Given the description of an element on the screen output the (x, y) to click on. 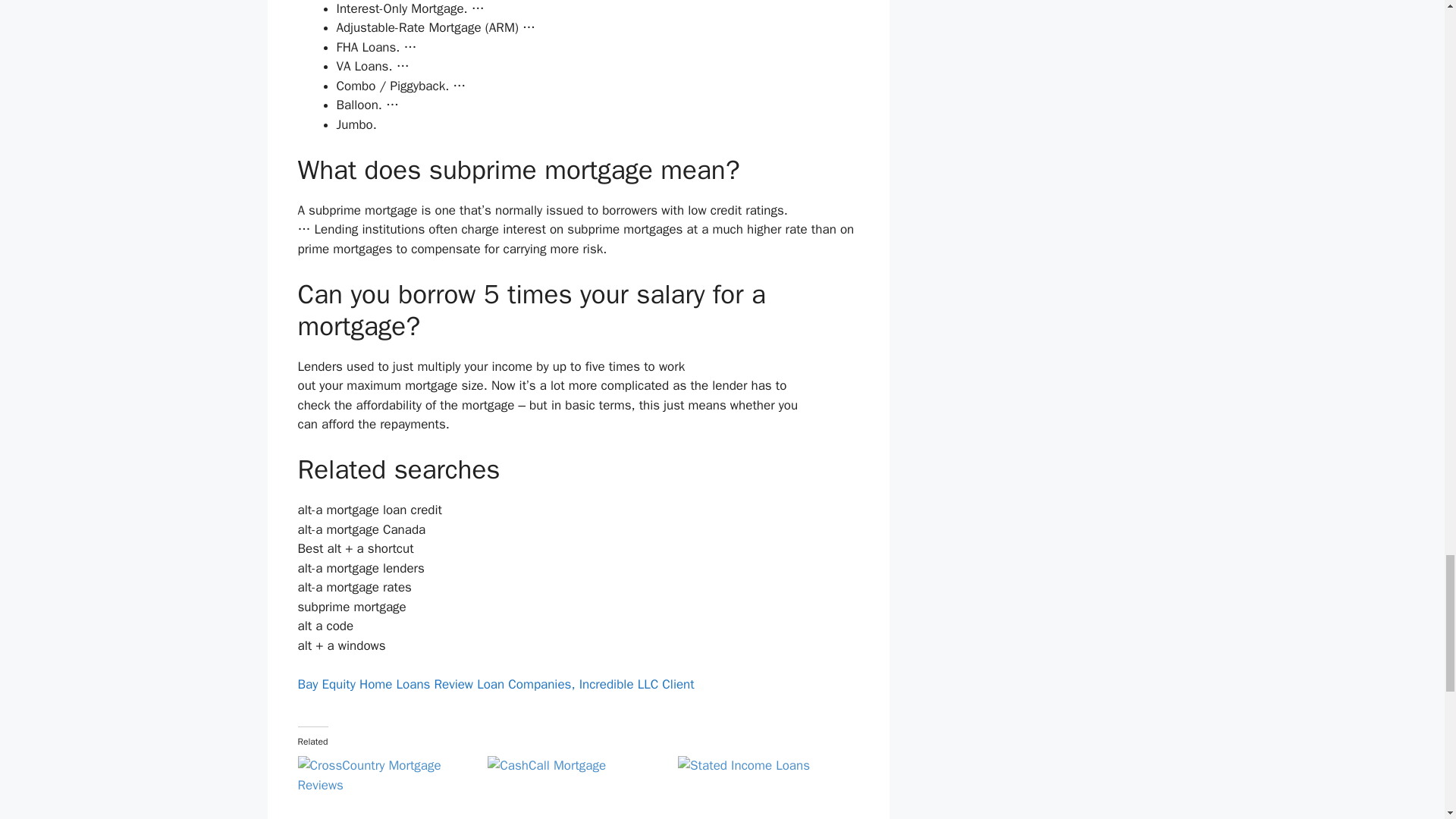
Stated Income Loans Available Self-Employed Borrowers 2023 (765, 787)
